Given the description of an element on the screen output the (x, y) to click on. 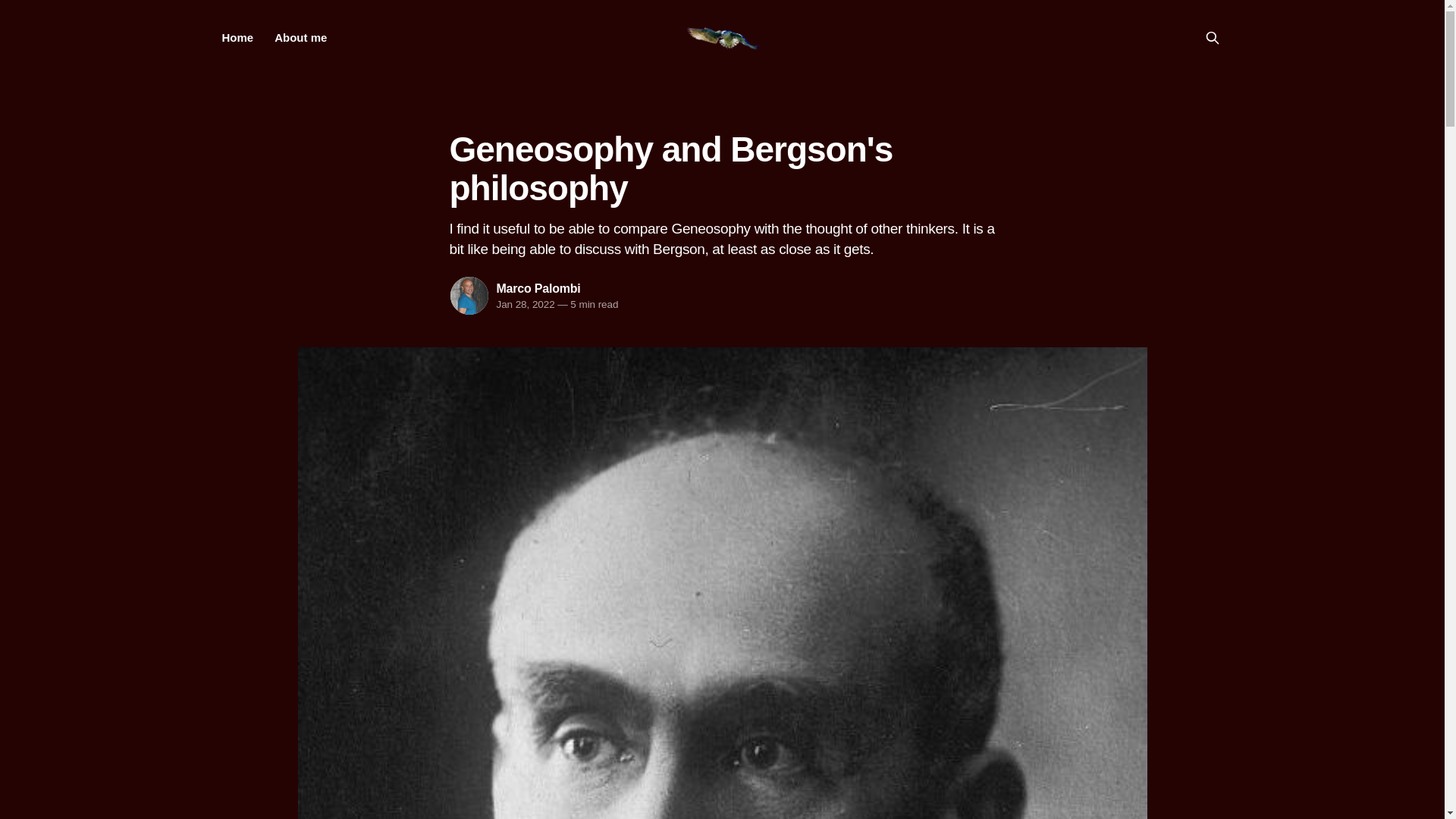
Marco Palombi (537, 287)
Home (237, 37)
About me (300, 37)
